Given the description of an element on the screen output the (x, y) to click on. 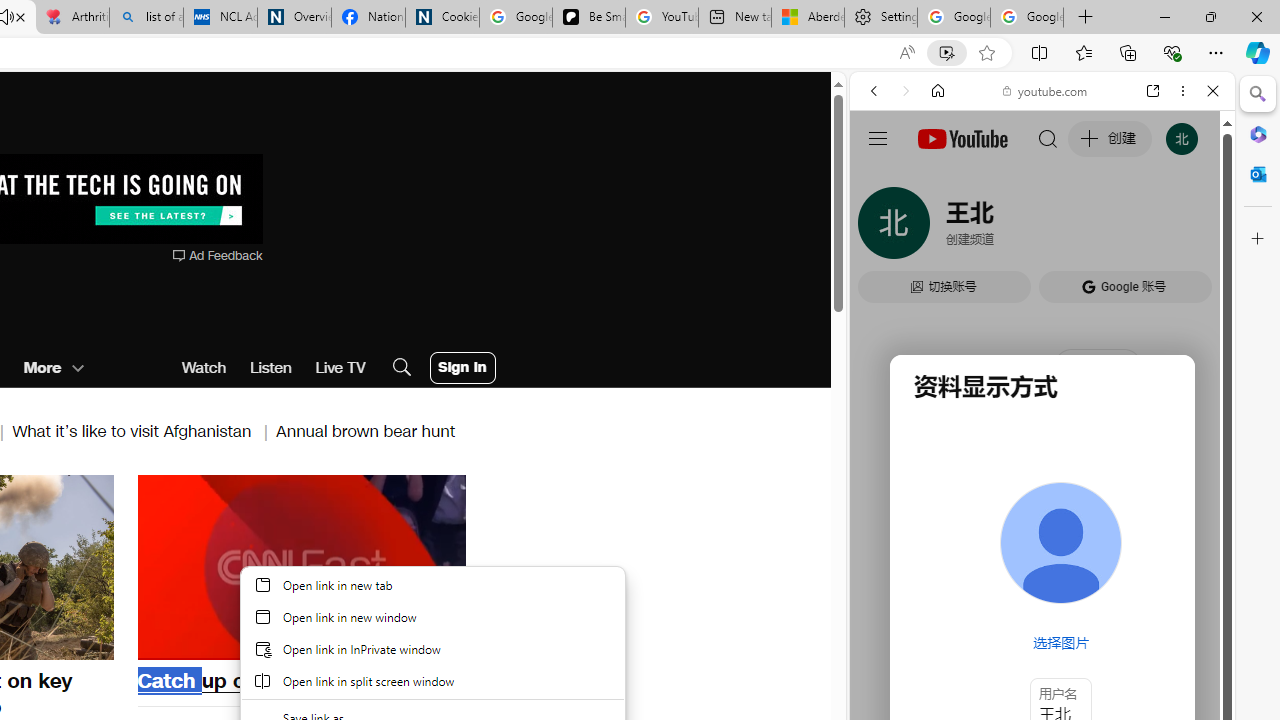
User Account Log In Button (462, 367)
Google (947, 584)
Annual brown bear hunt (365, 430)
Mute (164, 642)
Preferences (1189, 228)
Web scope (882, 180)
